Given the description of an element on the screen output the (x, y) to click on. 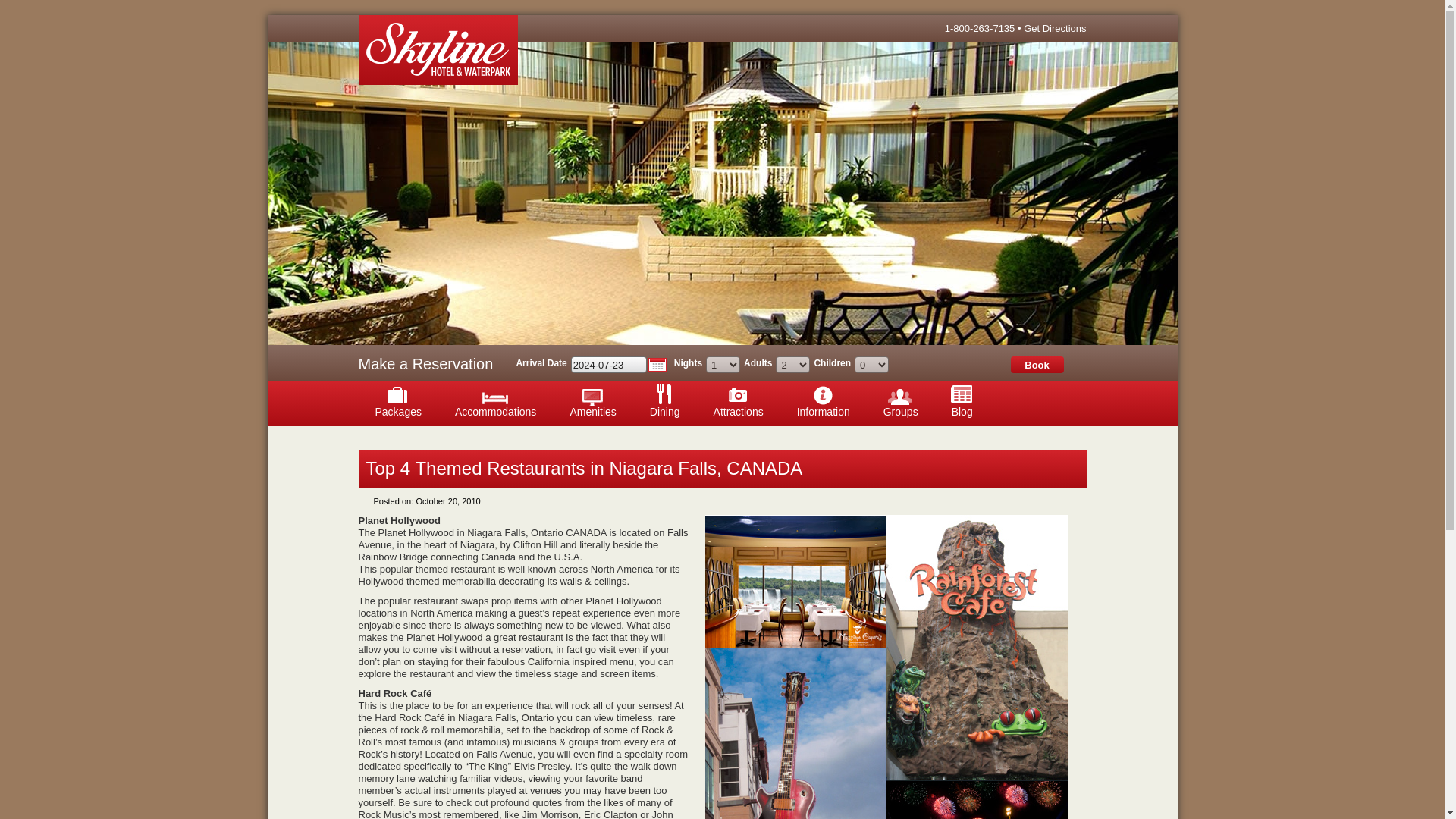
Amenities (592, 402)
Book (1036, 364)
Packages (398, 402)
Accommodations (495, 402)
Information (823, 402)
Blog (962, 402)
Top 4 Themed Niagara Restaurants (885, 667)
Dining (665, 402)
Attractions (738, 402)
Book (1036, 364)
Groups (900, 402)
Top 4 Themed Restaurants in Niagara Falls, CANADA (583, 467)
Get Directions (1054, 28)
2024-07-23 (608, 364)
